Given the description of an element on the screen output the (x, y) to click on. 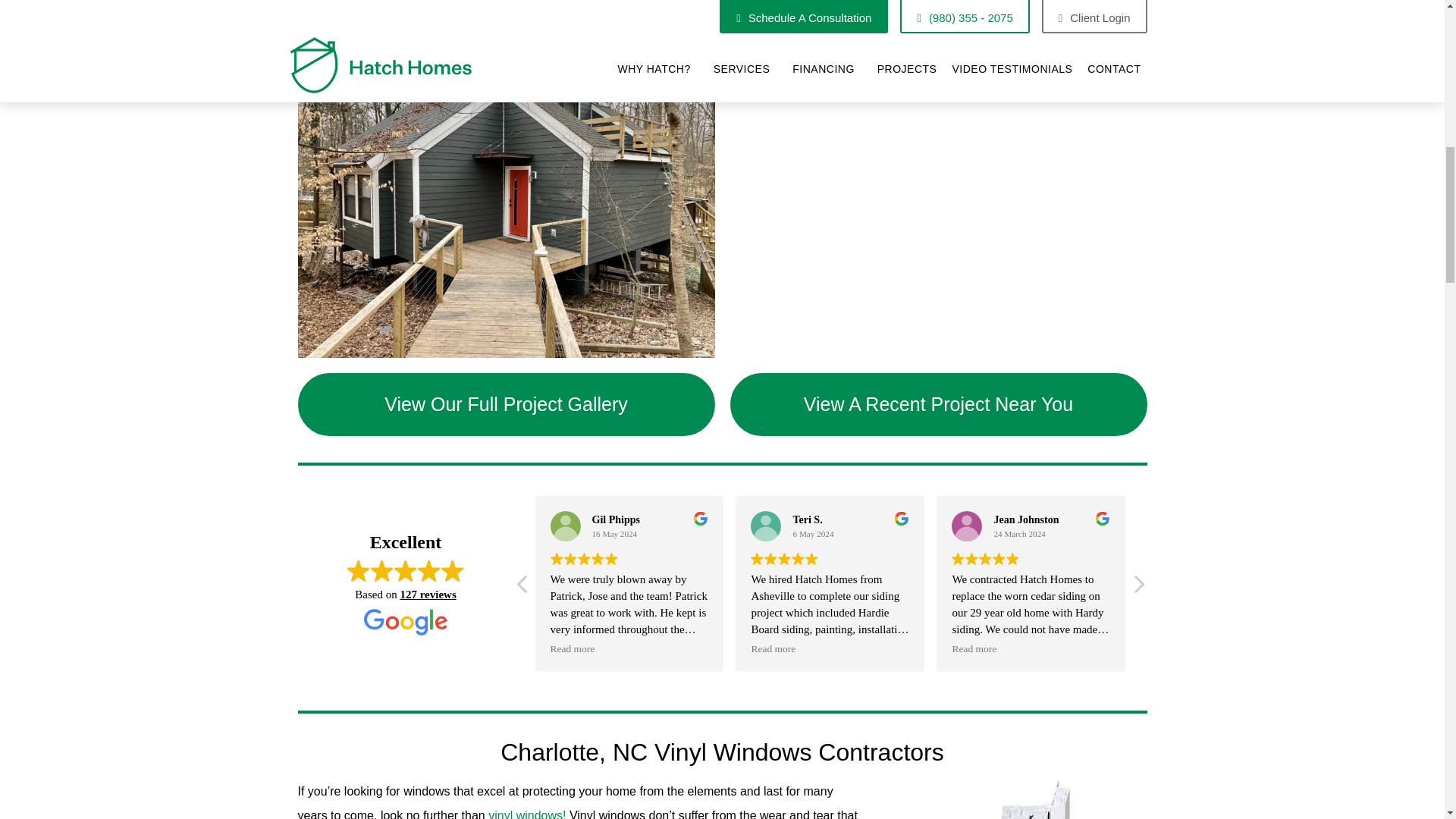
Charlotte, NC (938, 198)
